Given the description of an element on the screen output the (x, y) to click on. 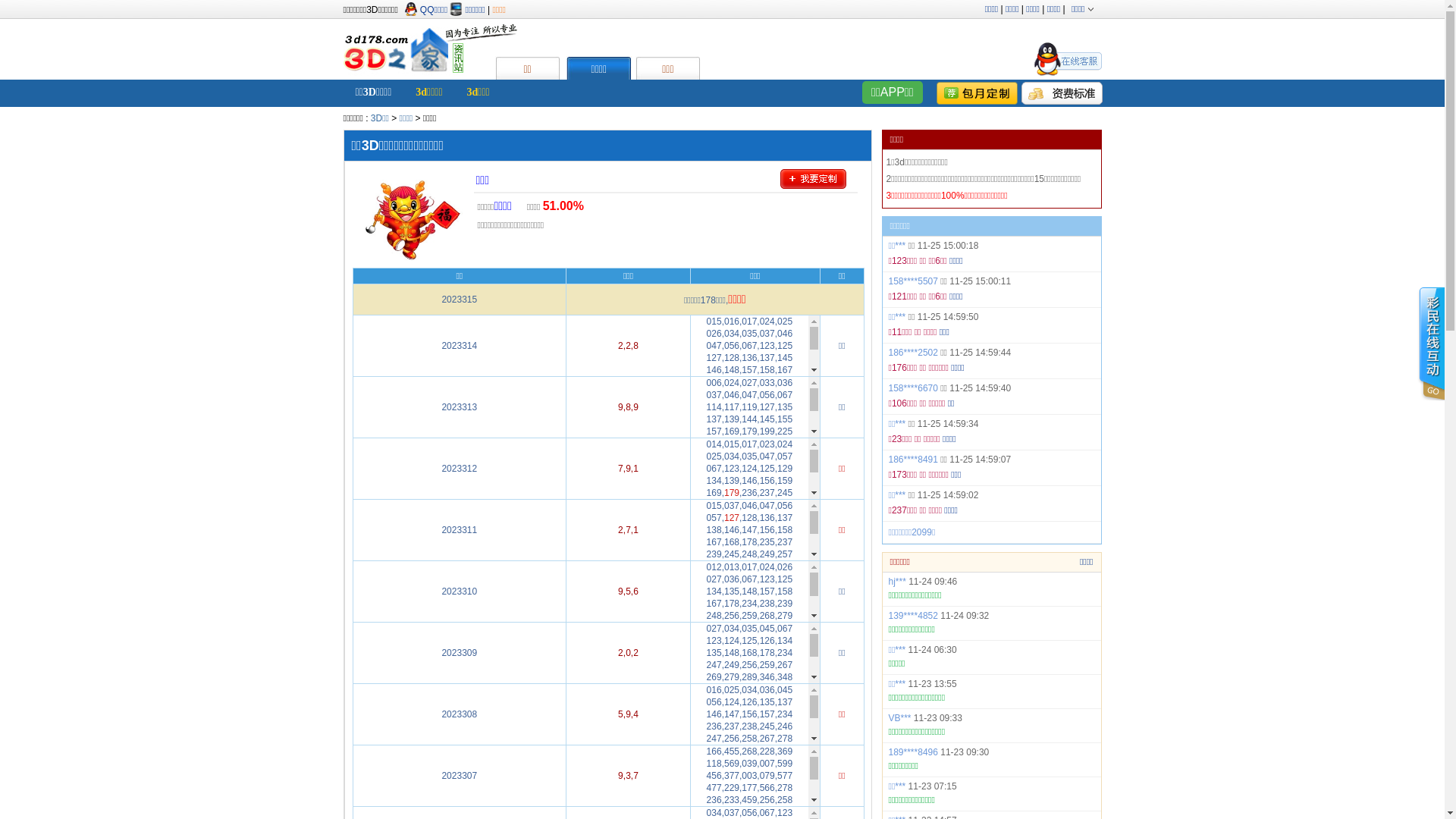
  Element type: text (817, 184)
